Given the description of an element on the screen output the (x, y) to click on. 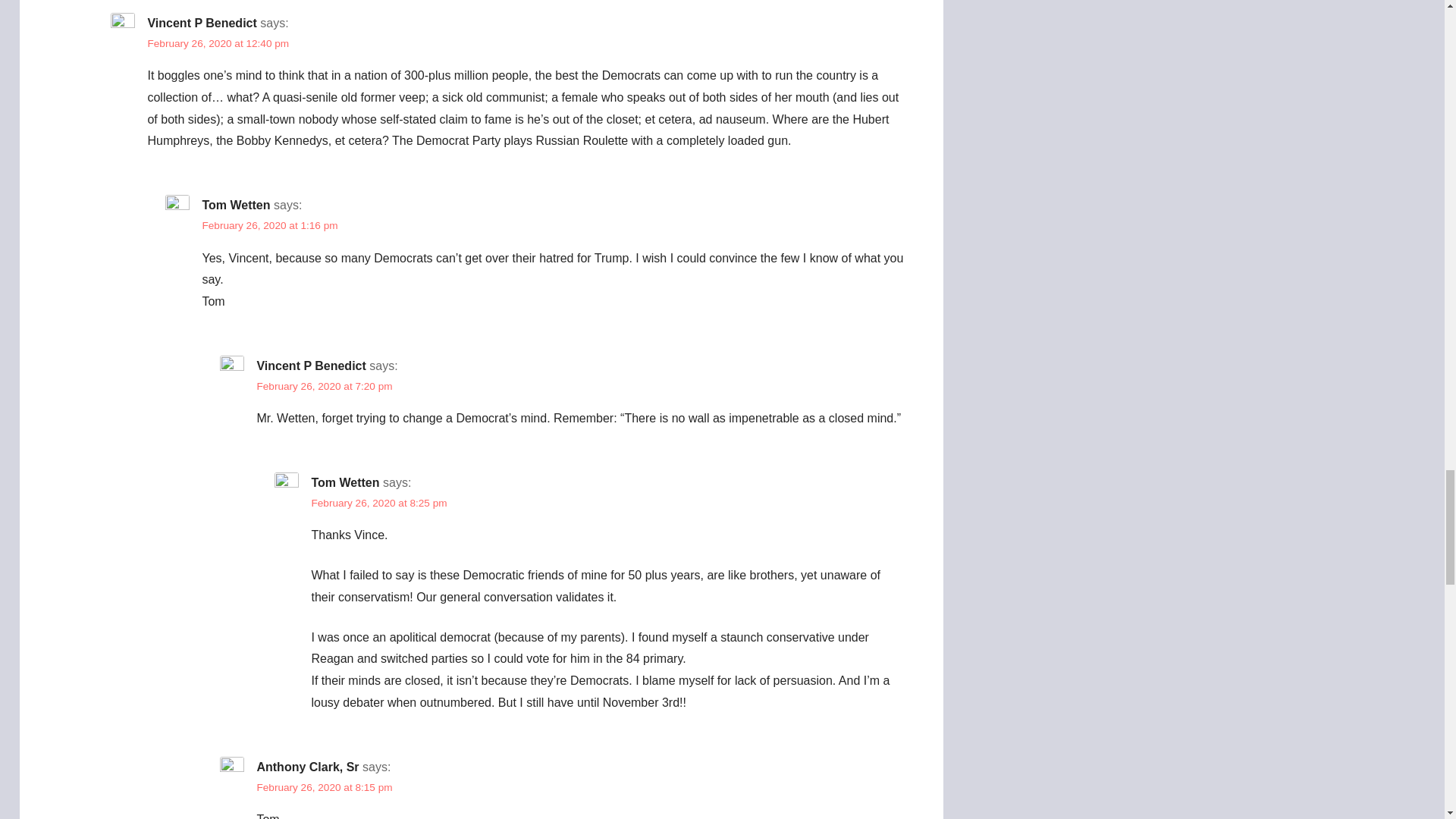
February 26, 2020 at 8:15 pm (323, 787)
February 26, 2020 at 8:25 pm (378, 502)
February 26, 2020 at 12:40 pm (217, 43)
February 26, 2020 at 1:16 pm (269, 225)
February 26, 2020 at 7:20 pm (323, 386)
